Given the description of an element on the screen output the (x, y) to click on. 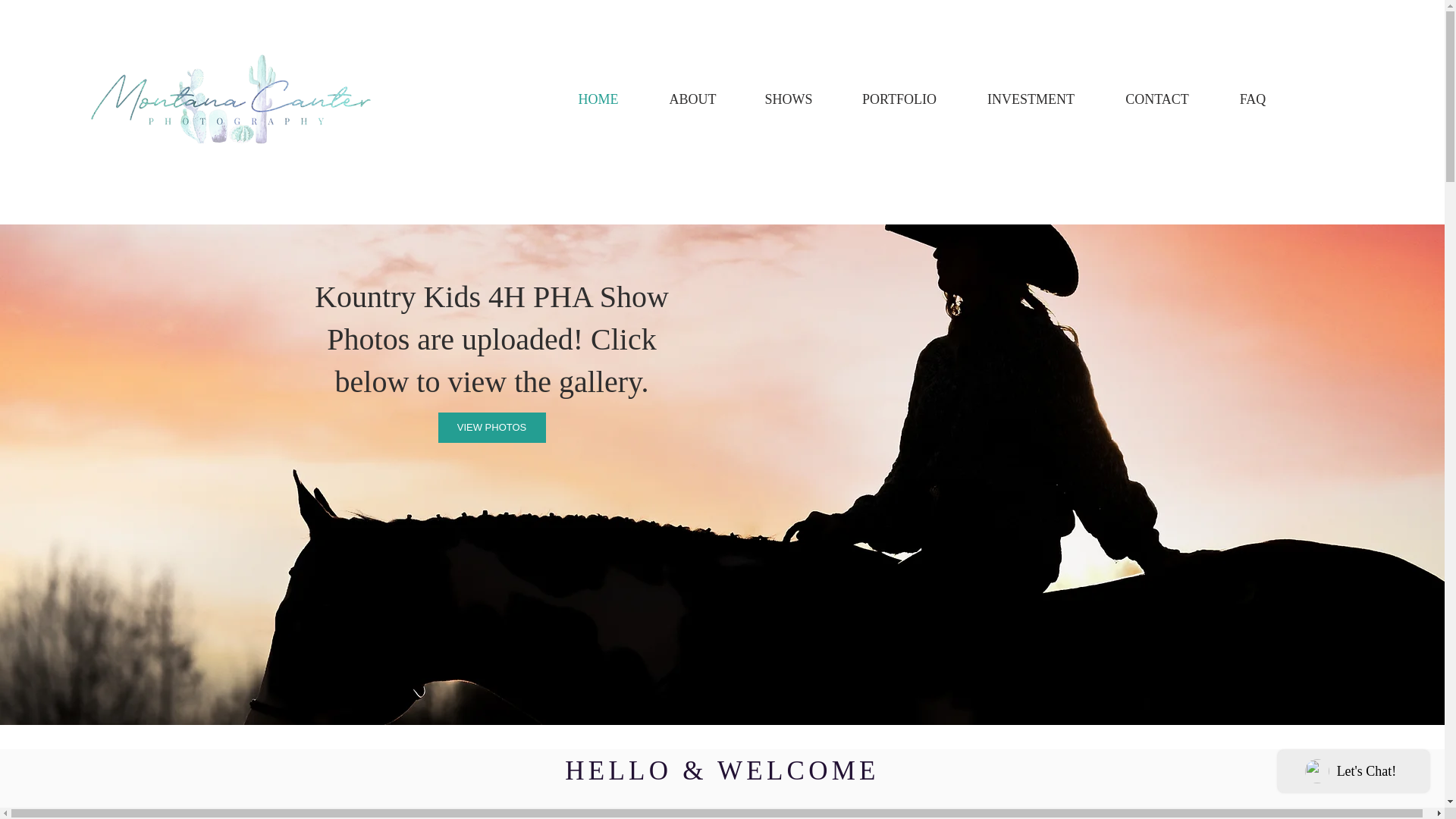
CONTACT (1157, 98)
ABOUT (692, 98)
VIEW PHOTOS (492, 427)
Wix Chat (1356, 774)
INVESTMENT (1031, 98)
FAQ (1252, 98)
SHOWS (788, 98)
HOME (597, 98)
PORTFOLIO (898, 98)
